Given the description of an element on the screen output the (x, y) to click on. 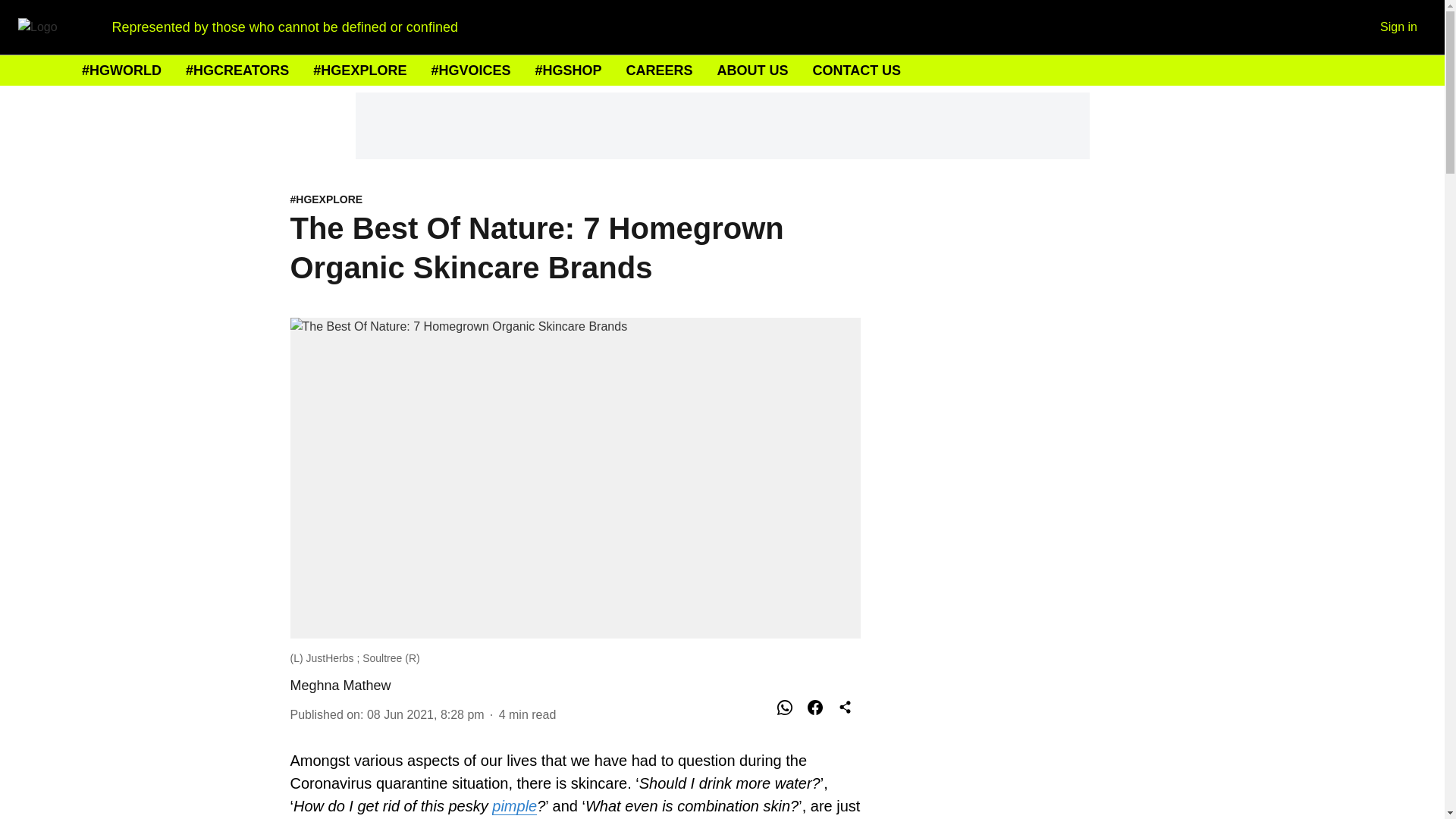
CAREERS (659, 70)
CONTACT US (856, 70)
ABOUT US (751, 70)
2021-06-08 12:28 (425, 714)
